Given the description of an element on the screen output the (x, y) to click on. 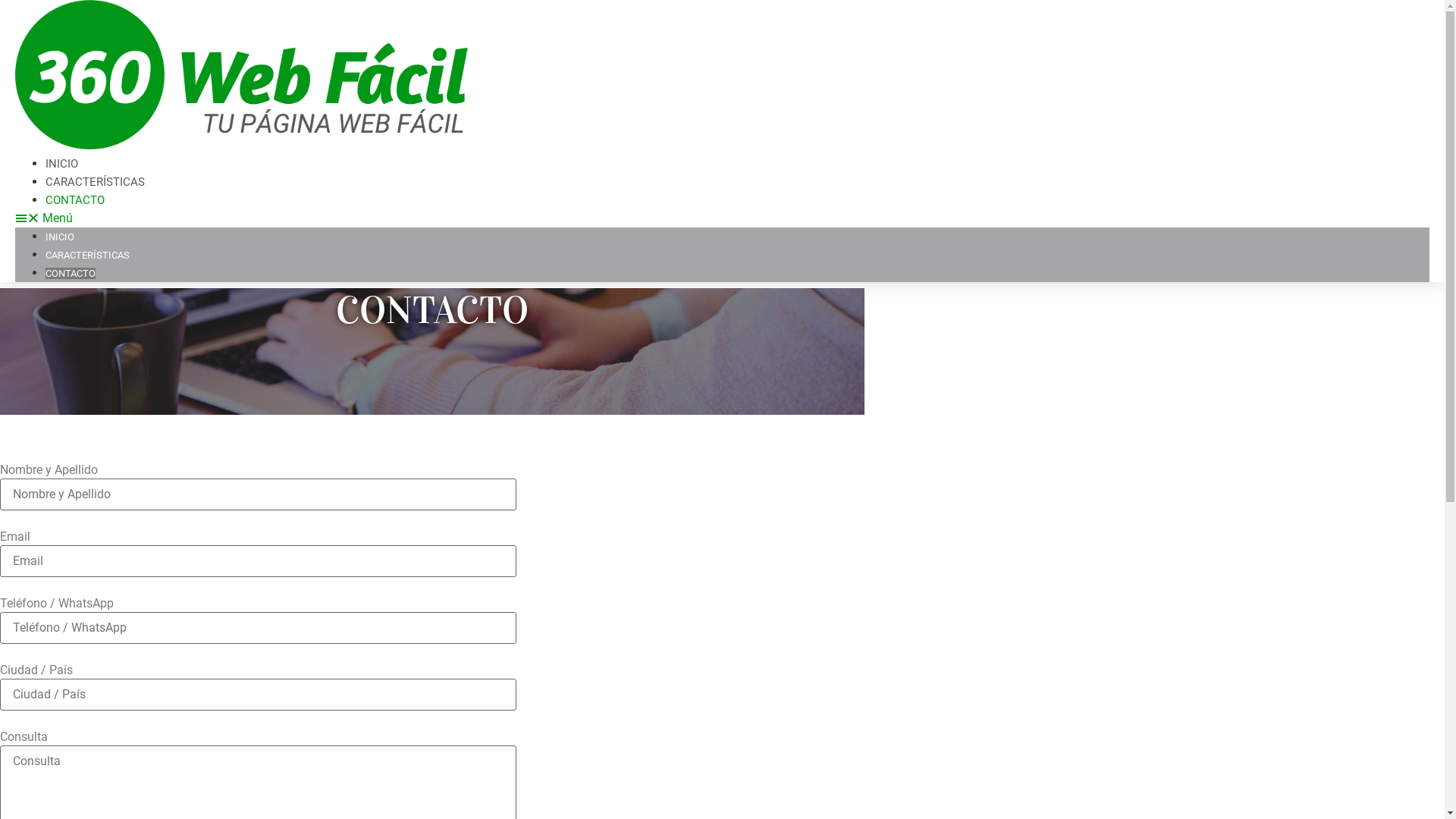
CONTACTO Element type: text (74, 200)
INICIO Element type: text (59, 236)
CONTACTO Element type: text (70, 273)
INICIO Element type: text (61, 163)
